Given the description of an element on the screen output the (x, y) to click on. 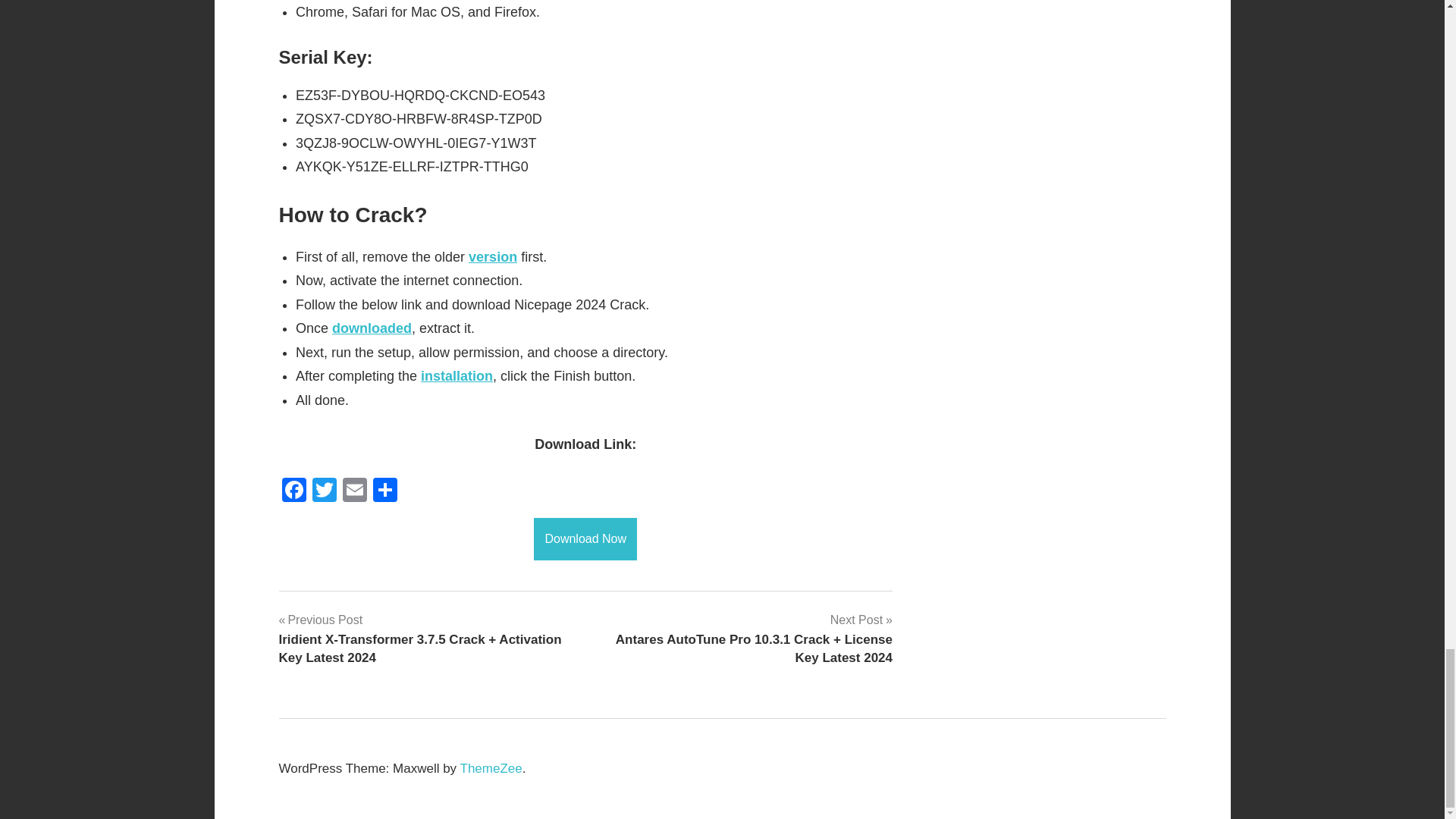
installation (456, 376)
Download Now (585, 538)
Download Now (585, 538)
Facebook (293, 491)
Twitter (323, 491)
Facebook (293, 491)
downloaded (371, 328)
Email (354, 491)
Email (354, 491)
ThemeZee (491, 768)
version (492, 256)
Twitter (323, 491)
